Given the description of an element on the screen output the (x, y) to click on. 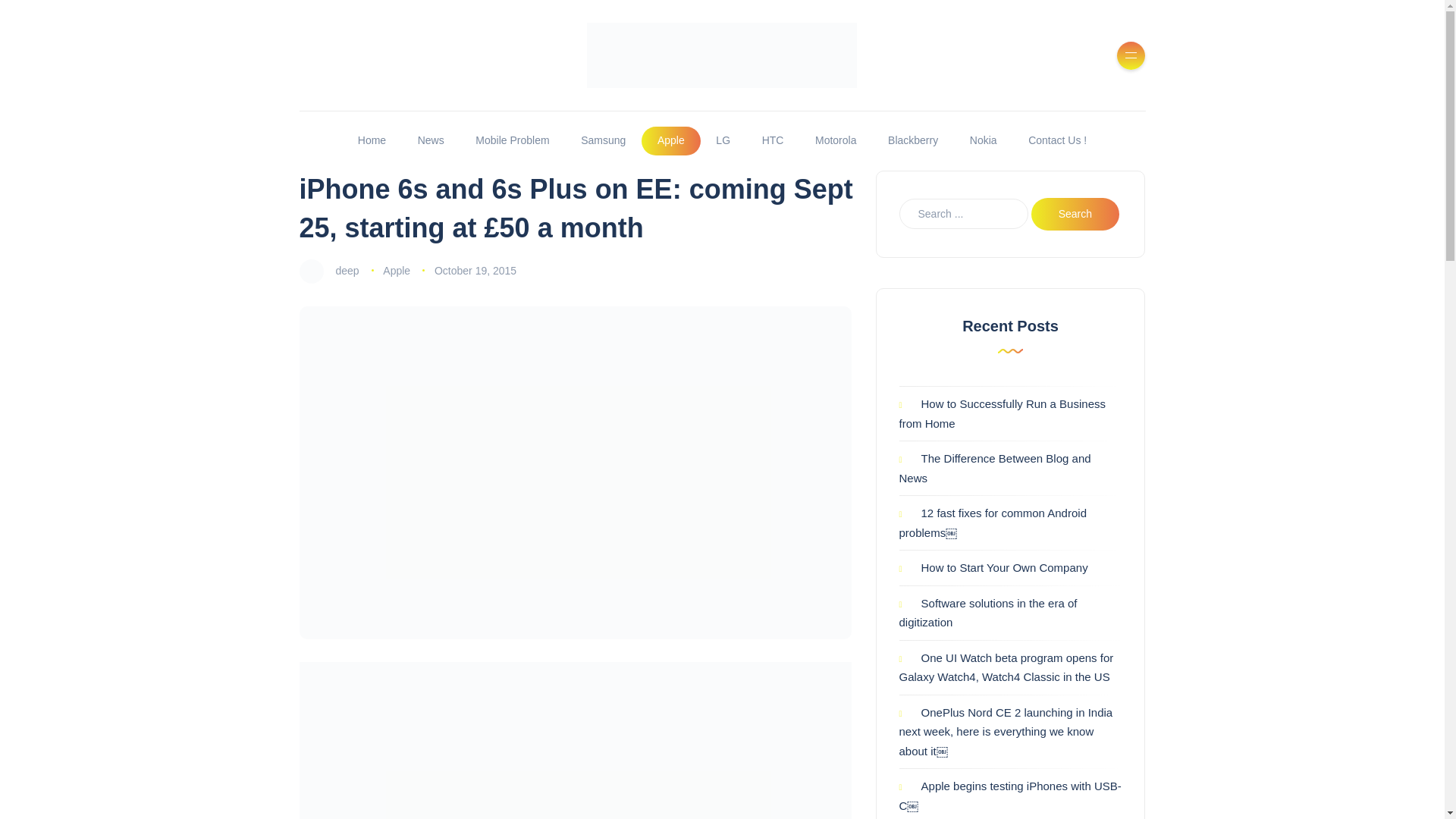
Search (1074, 214)
How to Successfully Run a Business from Home (1002, 413)
News (430, 140)
Apple (396, 270)
Motorola (835, 140)
LG (722, 140)
How to Start Your Own Company (993, 567)
Apple (671, 140)
The Difference Between Blog and News (994, 468)
Home (371, 140)
Blackberry (912, 140)
Samsung (603, 140)
deep (346, 270)
HTC (772, 140)
Posts by deep (346, 270)
